Given the description of an element on the screen output the (x, y) to click on. 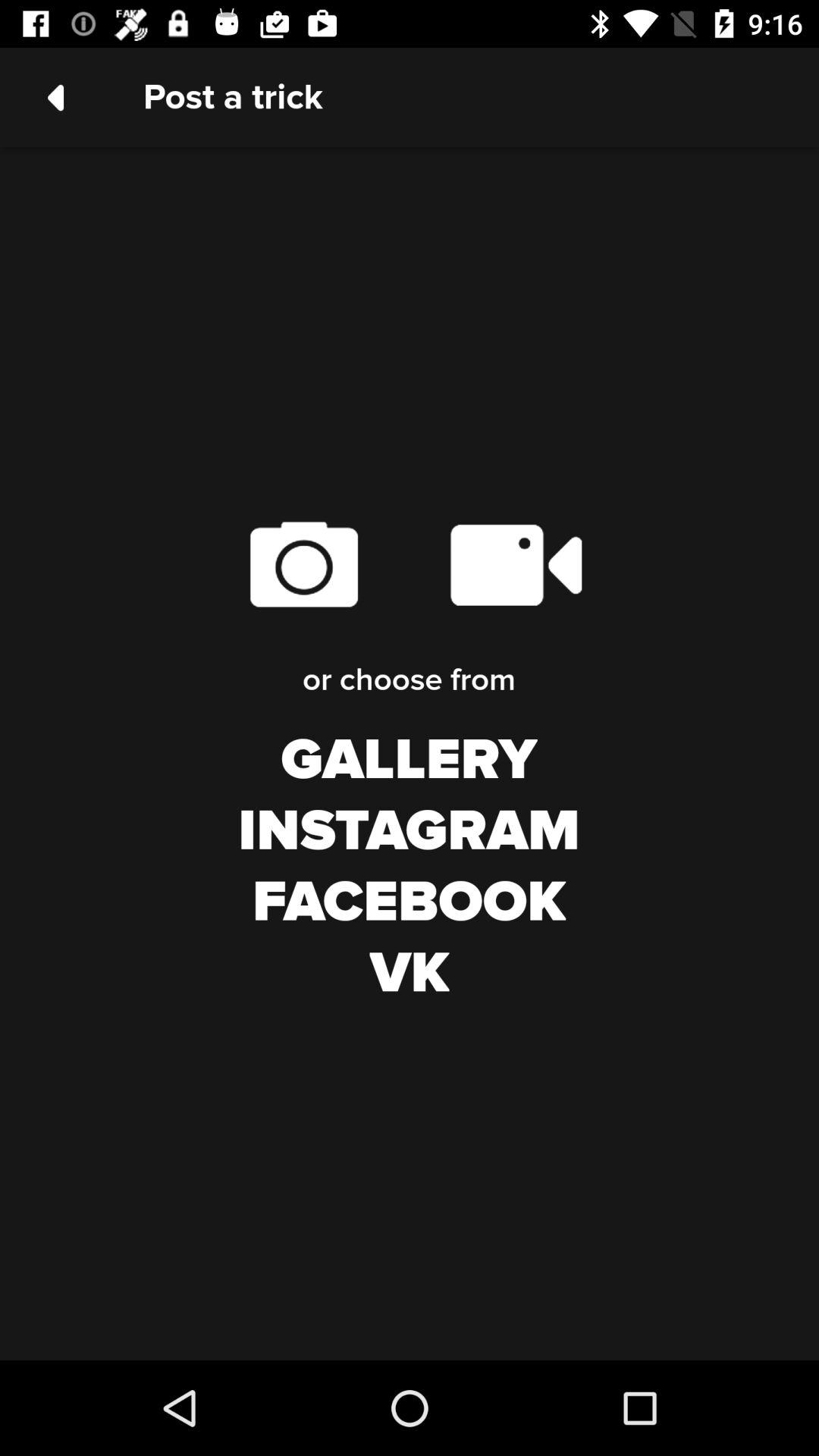
take a picture (303, 564)
